Given the description of an element on the screen output the (x, y) to click on. 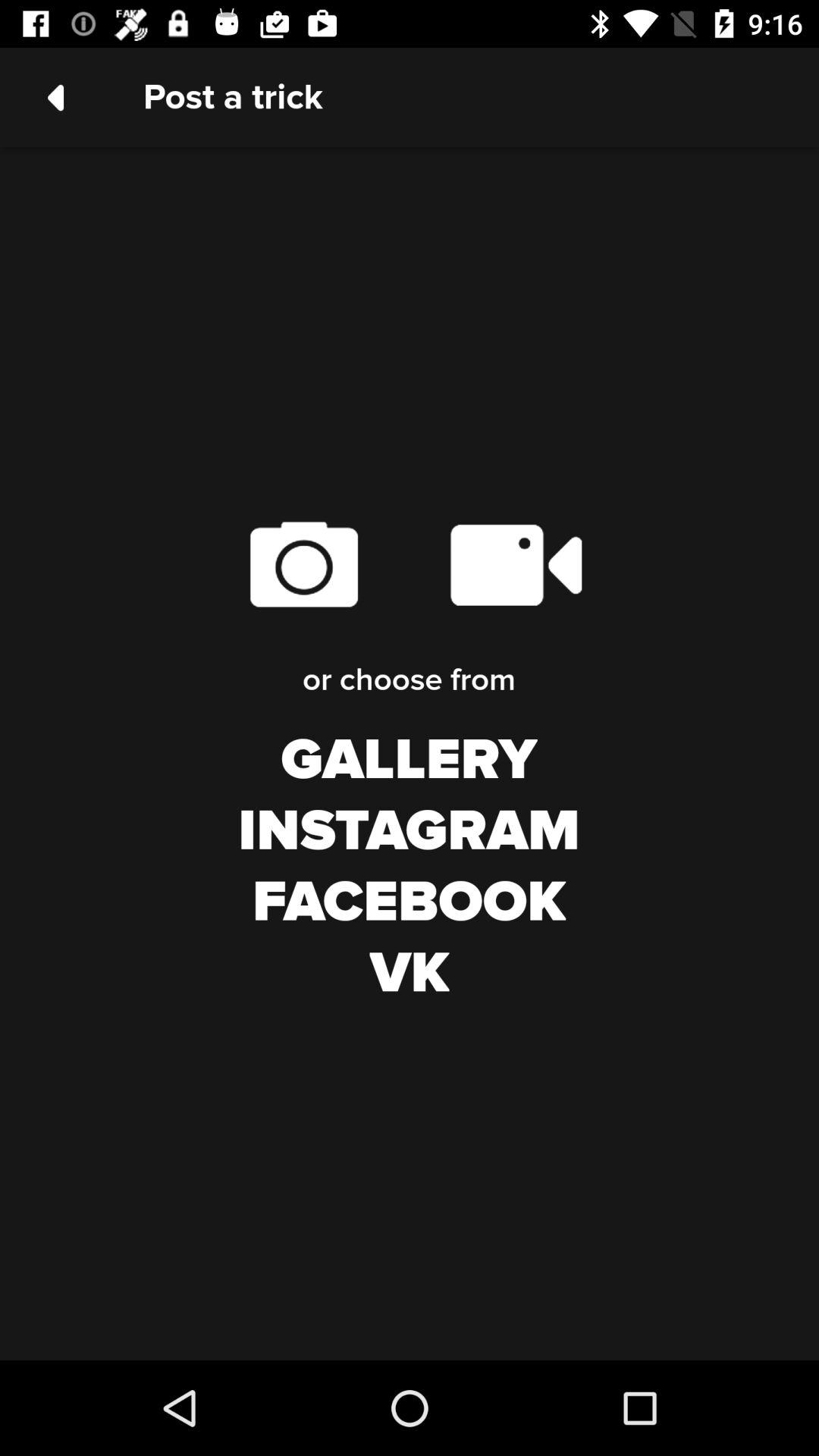
take a picture (303, 564)
